Given the description of an element on the screen output the (x, y) to click on. 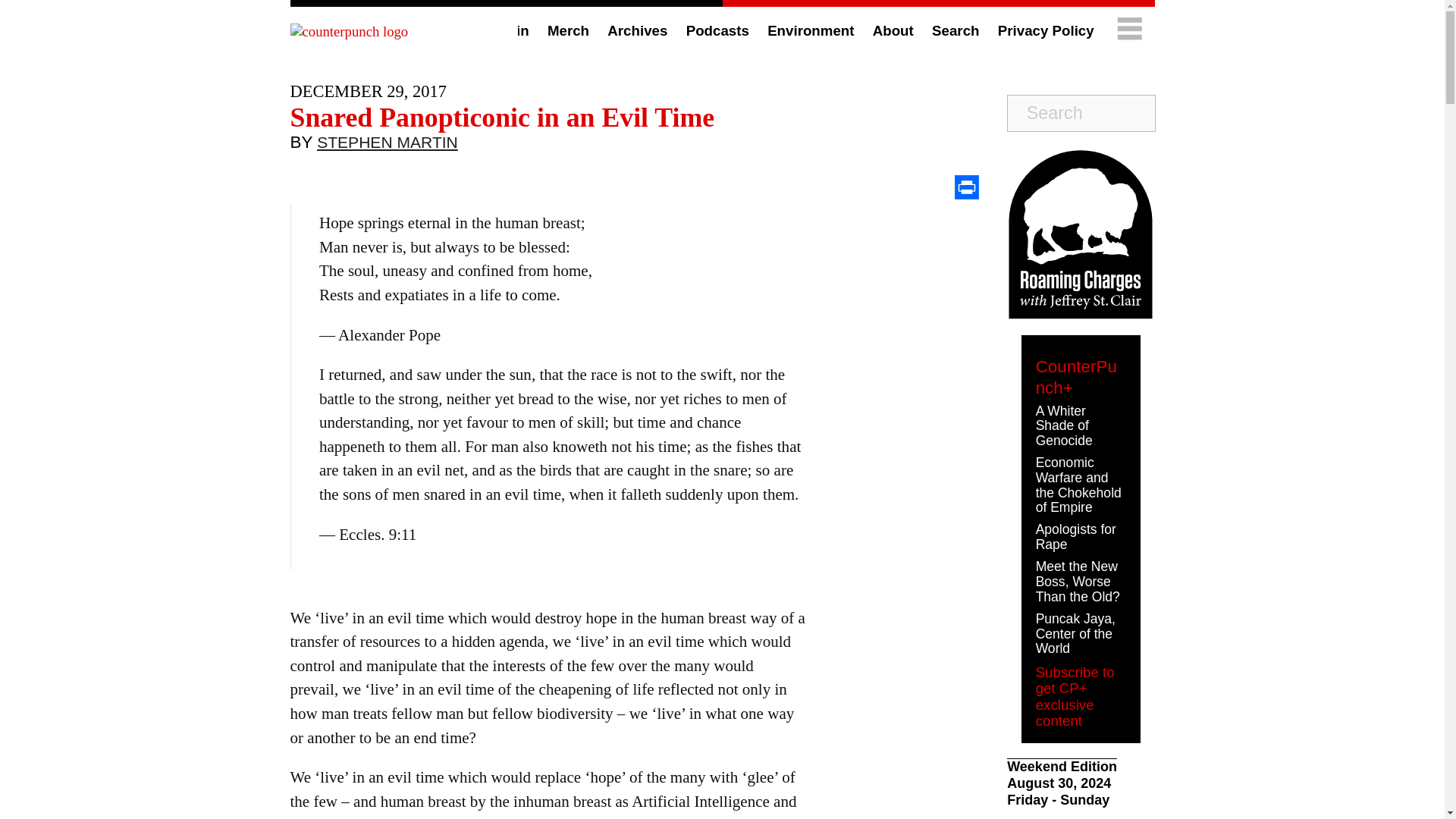
2017-12-29 (367, 90)
Merch (568, 30)
About (893, 30)
Environment (810, 30)
Apologists for Rape (1075, 536)
Archives (636, 30)
Podcasts (717, 30)
STEPHEN MARTIN (387, 145)
Privacy Policy (1045, 30)
A Whiter Shade of Genocide (1064, 425)
